Given the description of an element on the screen output the (x, y) to click on. 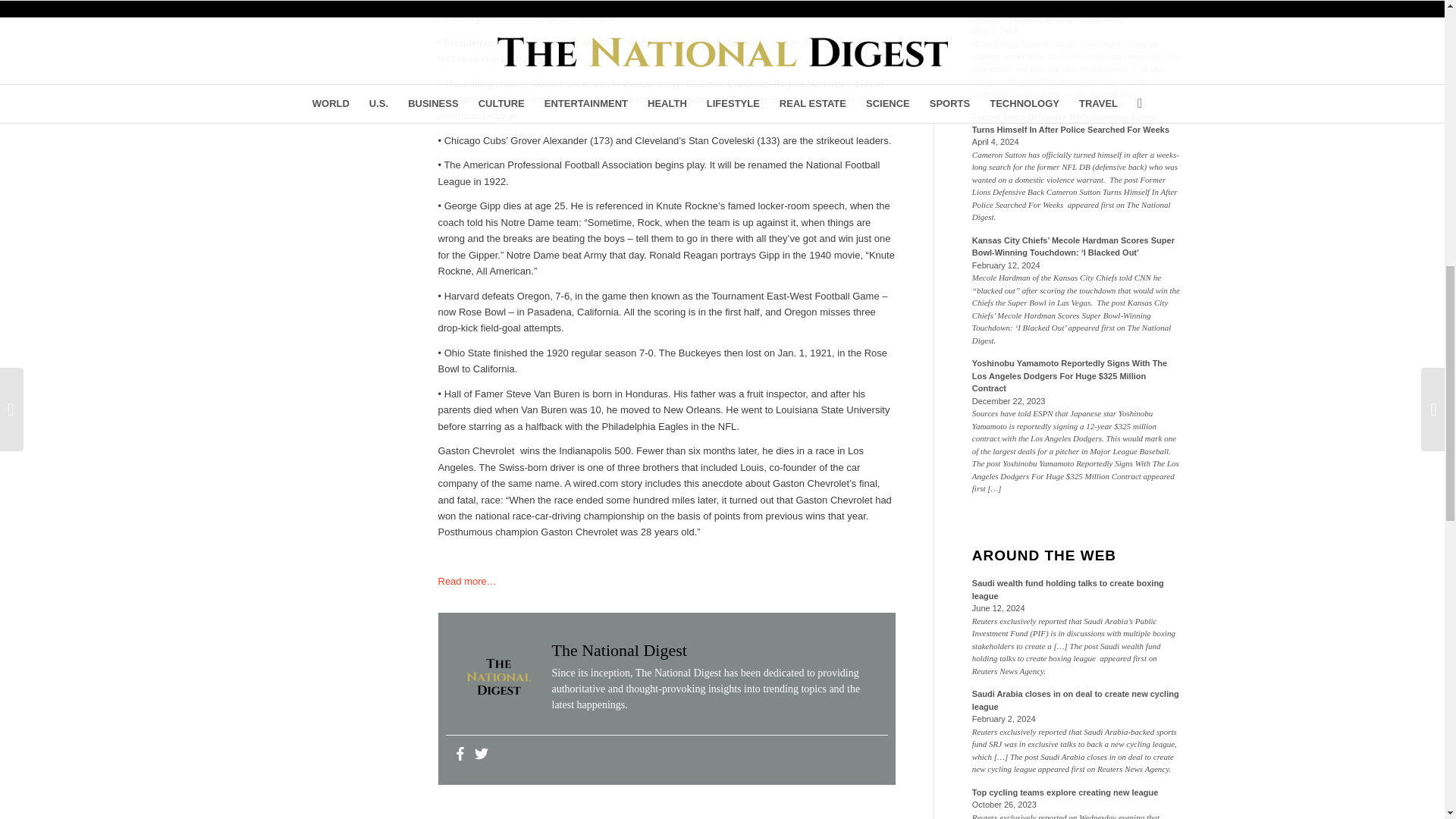
Facebook (459, 754)
The National Digest (619, 650)
Twitter (480, 754)
